Given the description of an element on the screen output the (x, y) to click on. 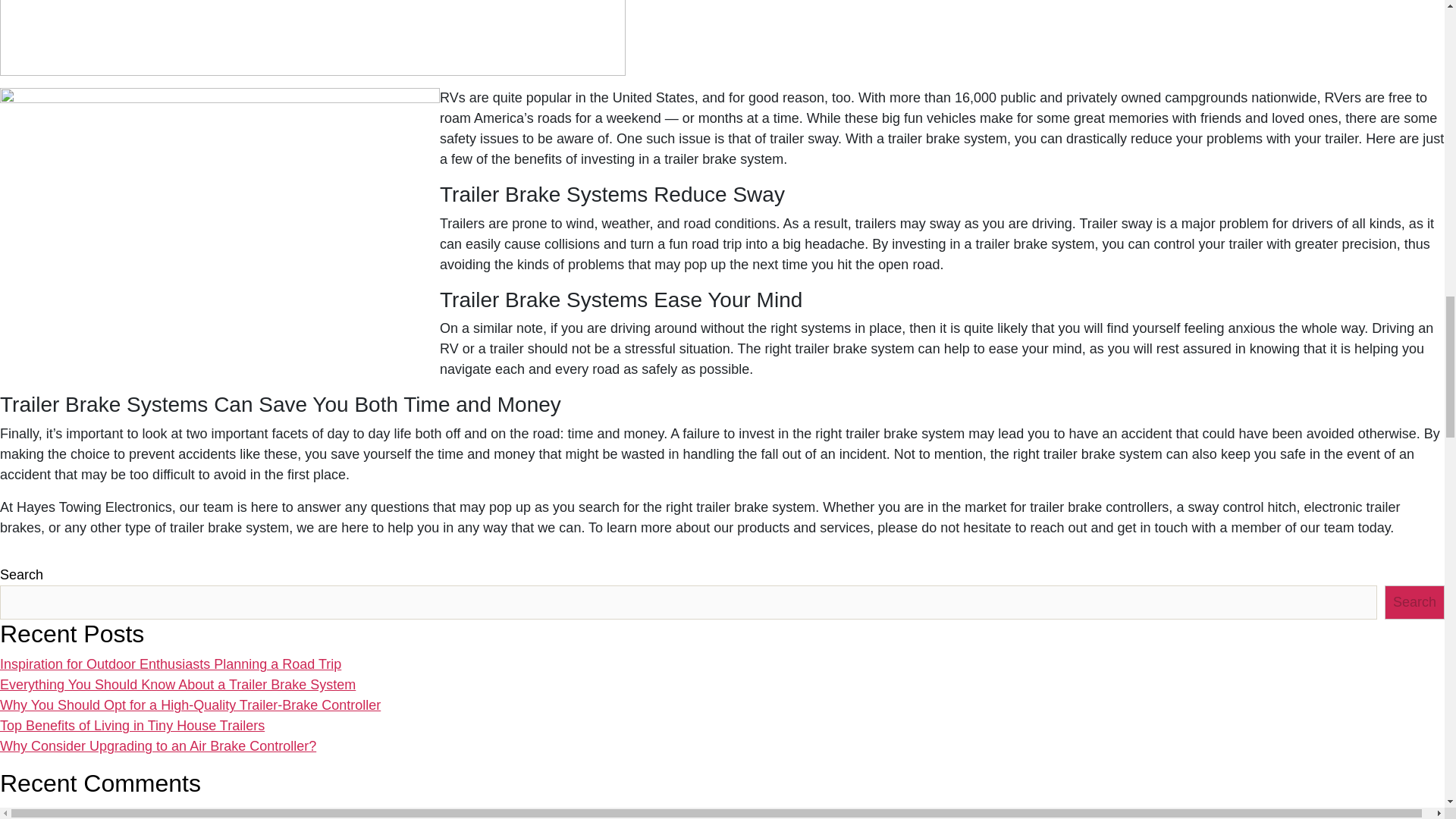
Inspiration for Outdoor Enthusiasts Planning a Road Trip (170, 663)
trailer-brake-system (219, 223)
Search (1414, 602)
trailer brake system (723, 159)
